Given the description of an element on the screen output the (x, y) to click on. 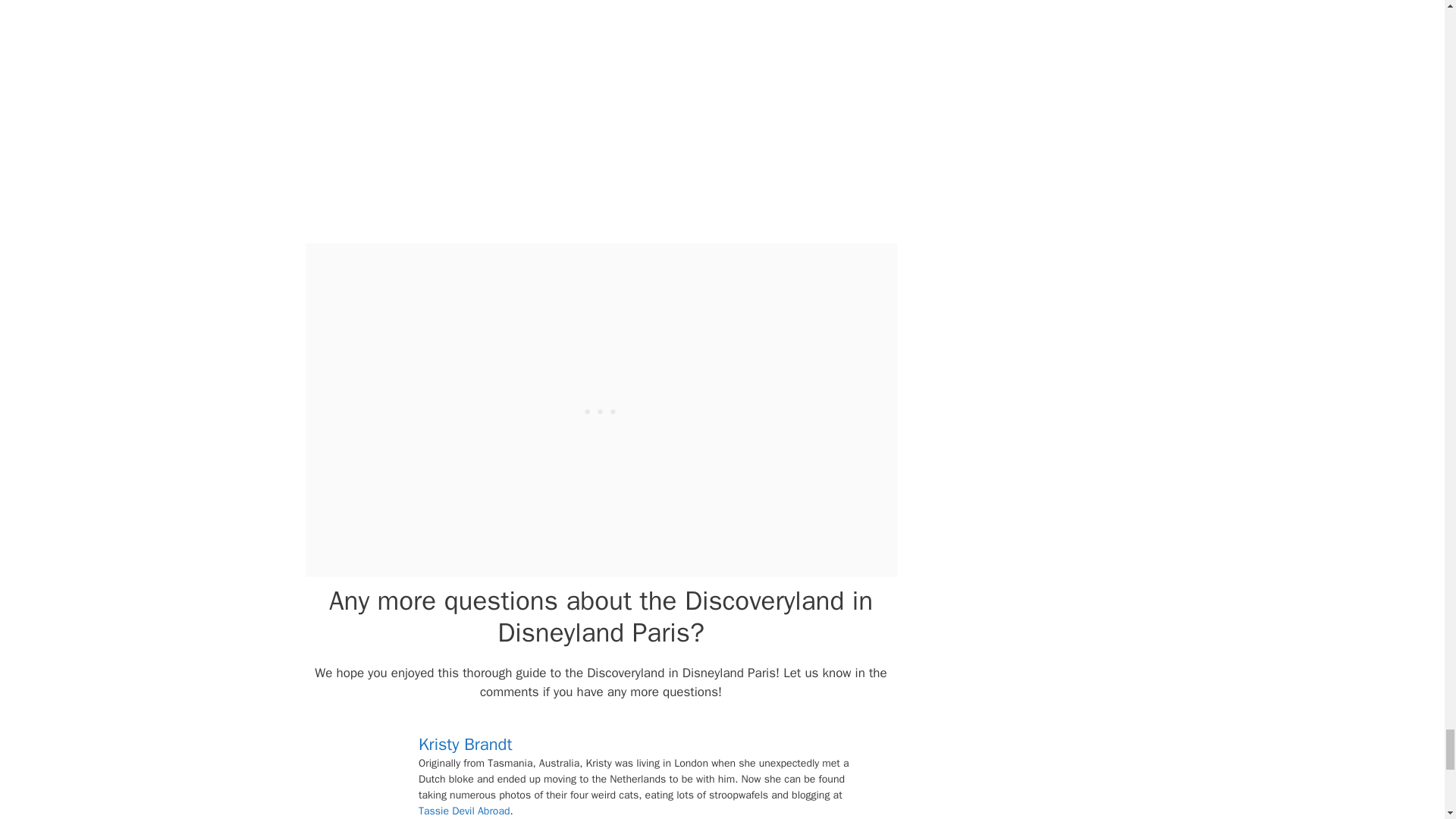
Tassie Devil Abroad (465, 810)
Kristy Brandt (465, 744)
